Given the description of an element on the screen output the (x, y) to click on. 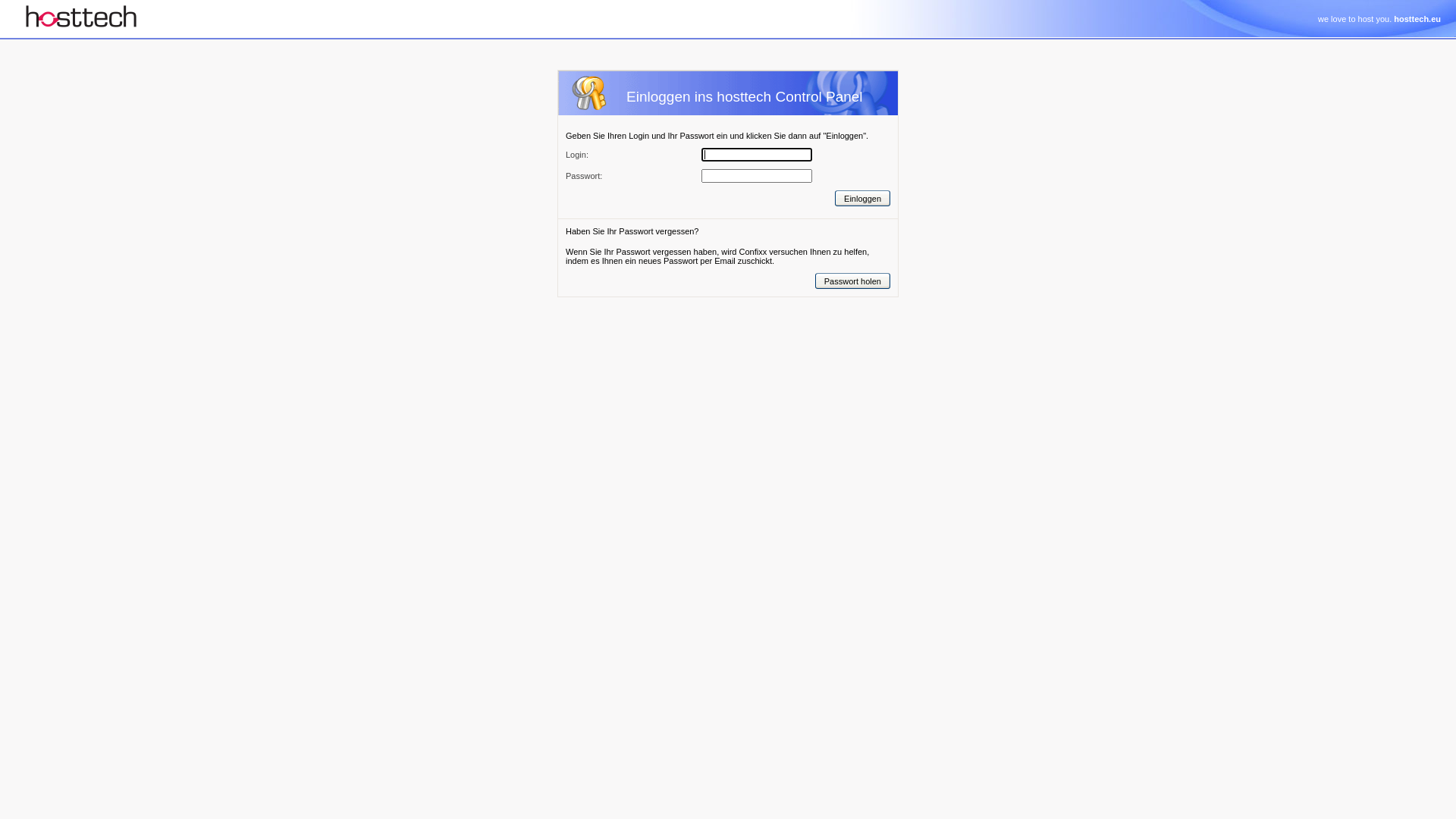
we love to host you. hosttech.eu Element type: text (1378, 18)
Passwort holen Element type: text (852, 280)
Einloggen Element type: text (862, 198)
